Given the description of an element on the screen output the (x, y) to click on. 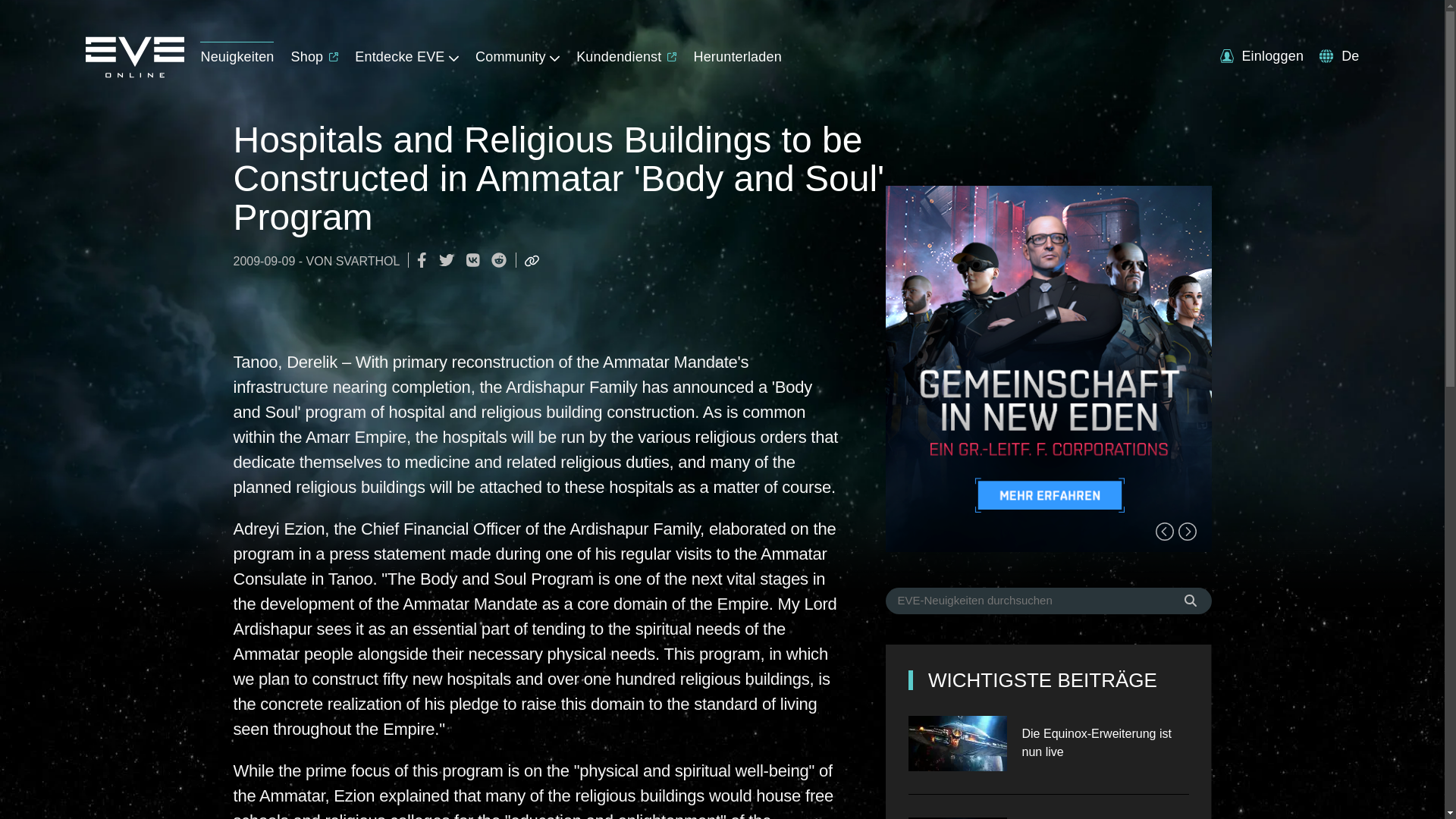
Kundendienst (626, 53)
Shop (315, 53)
Home (133, 72)
Herunterladen (736, 53)
Neuigkeiten (236, 53)
Einloggen (1261, 55)
